Given the description of an element on the screen output the (x, y) to click on. 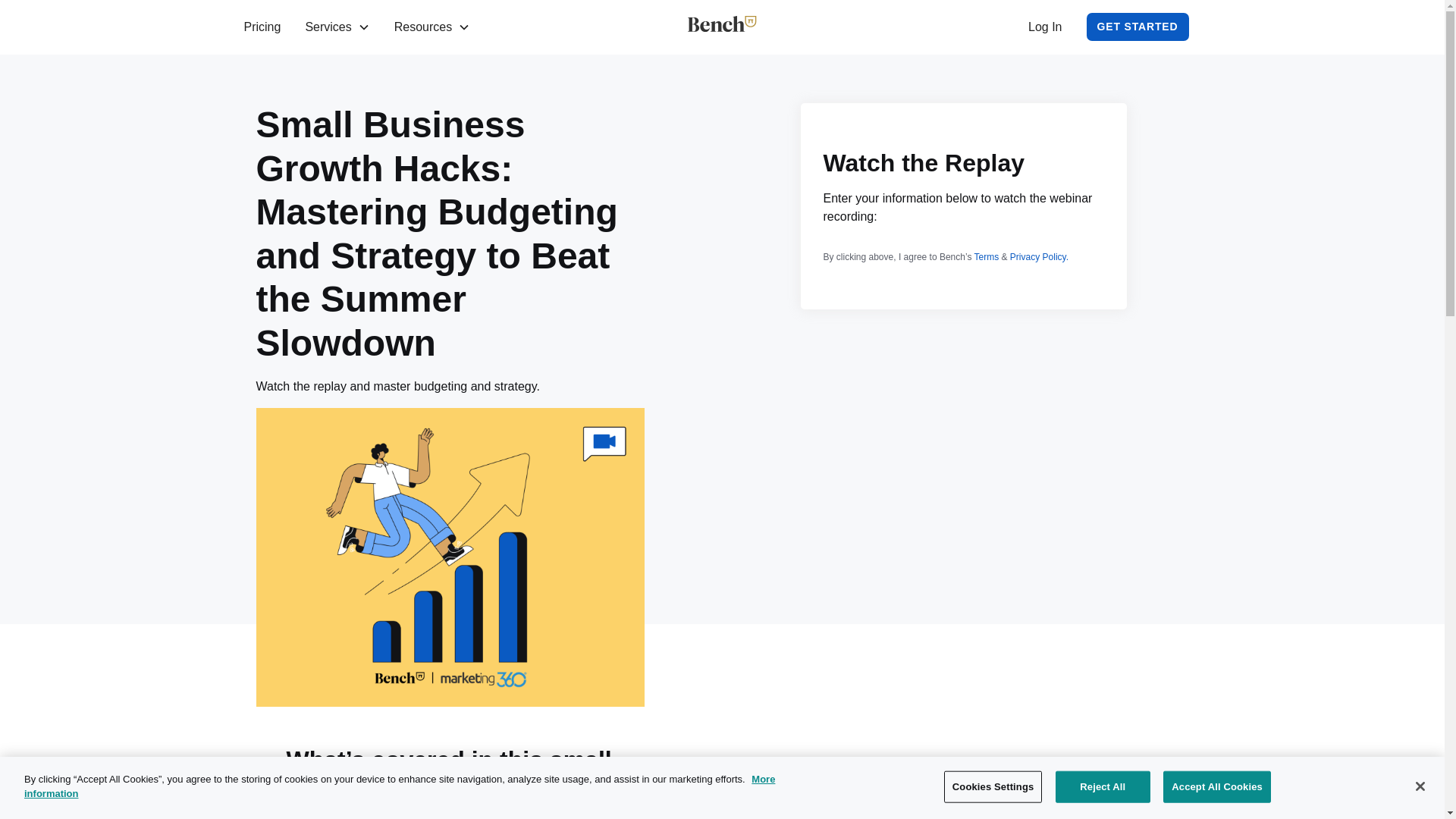
Pricing (262, 27)
Terms (987, 256)
Log In (1044, 27)
GET STARTED (1137, 26)
Privacy Policy. (1039, 256)
